Given the description of an element on the screen output the (x, y) to click on. 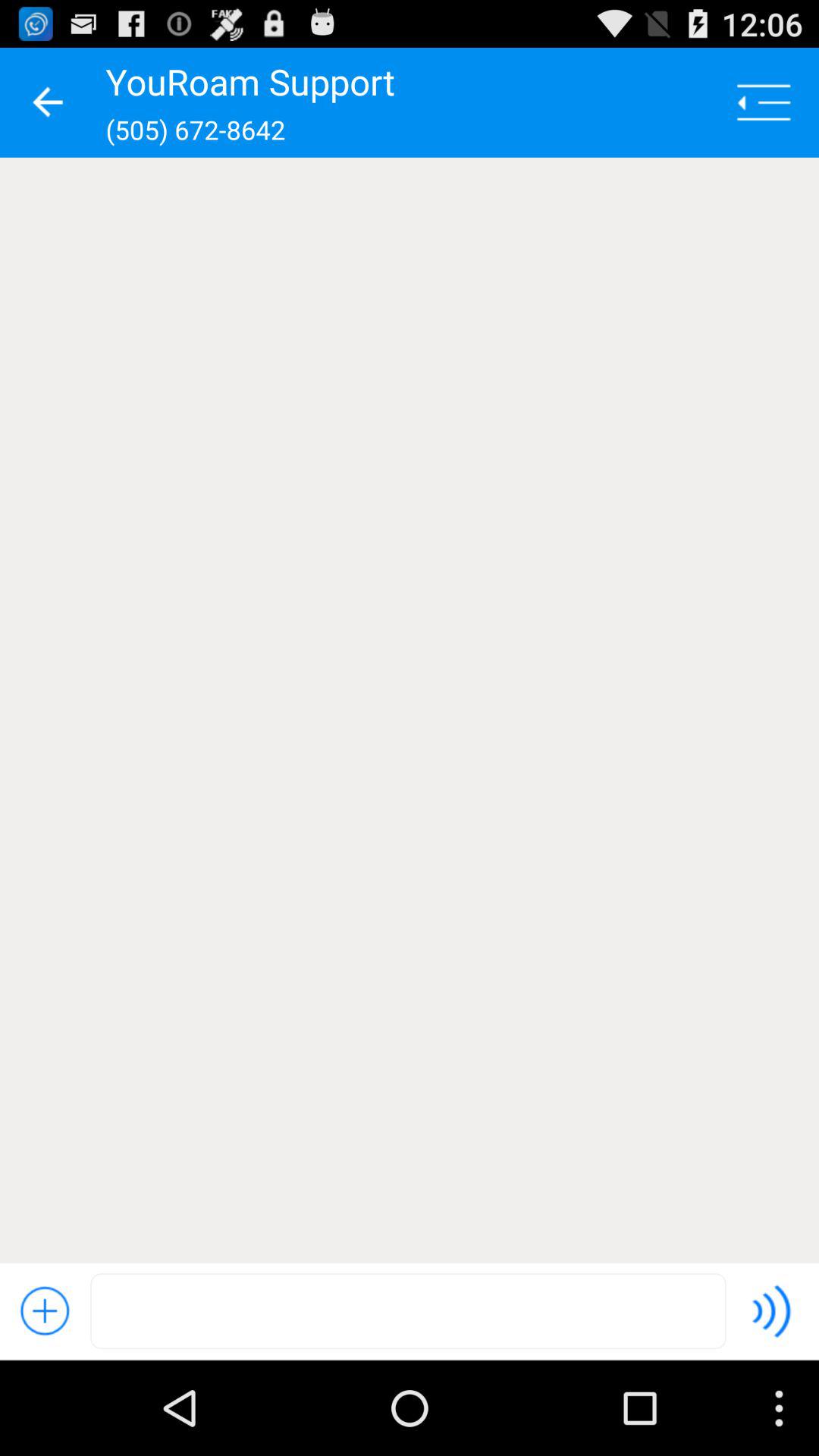
turn on icon below (505) 672-8642 item (409, 710)
